Given the description of an element on the screen output the (x, y) to click on. 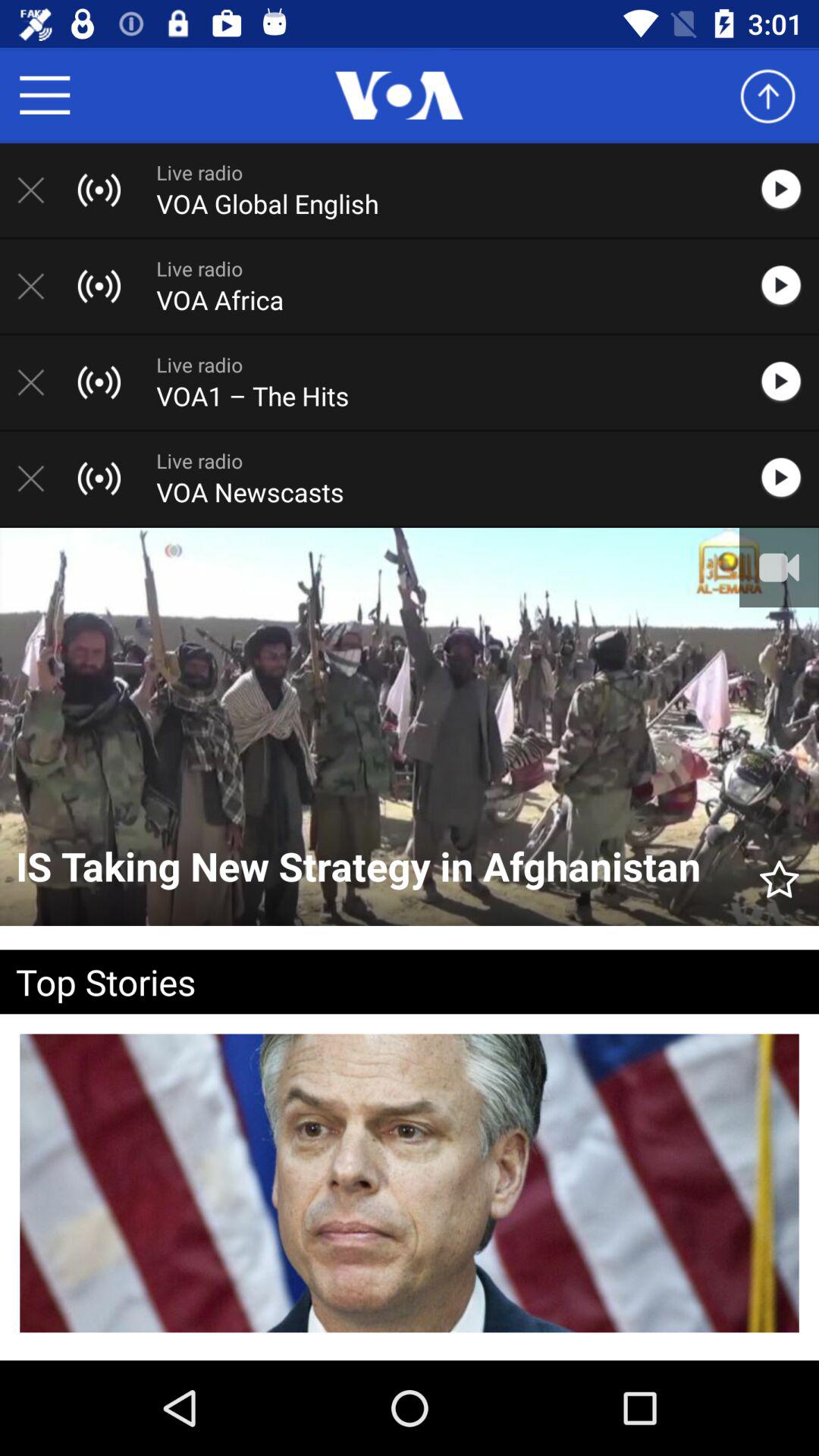
select the is taking new (377, 867)
